Given the description of an element on the screen output the (x, y) to click on. 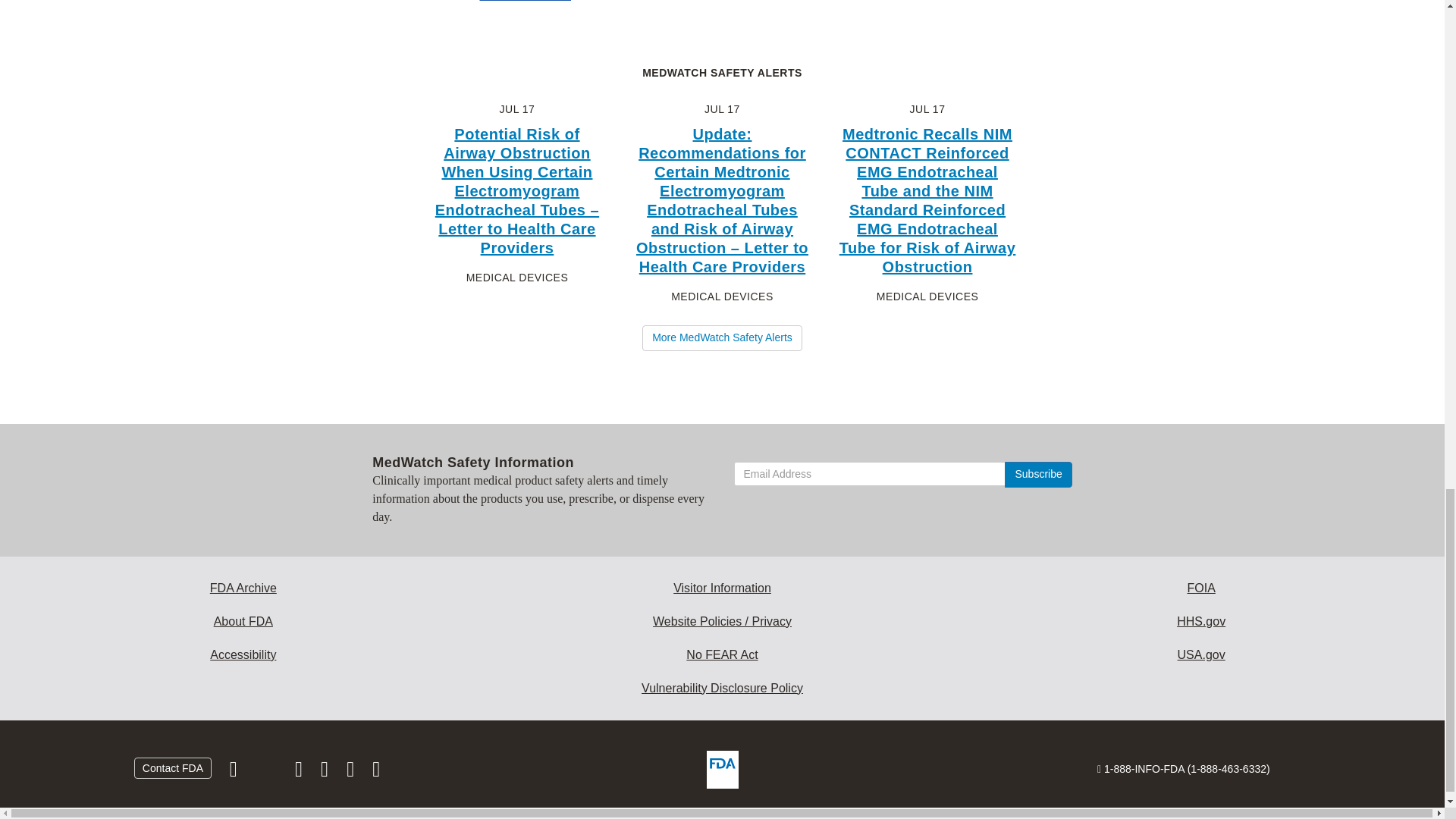
Subscribe (1037, 474)
Health and Human Services (1200, 621)
Freedom of Information Act (1200, 588)
